Given the description of an element on the screen output the (x, y) to click on. 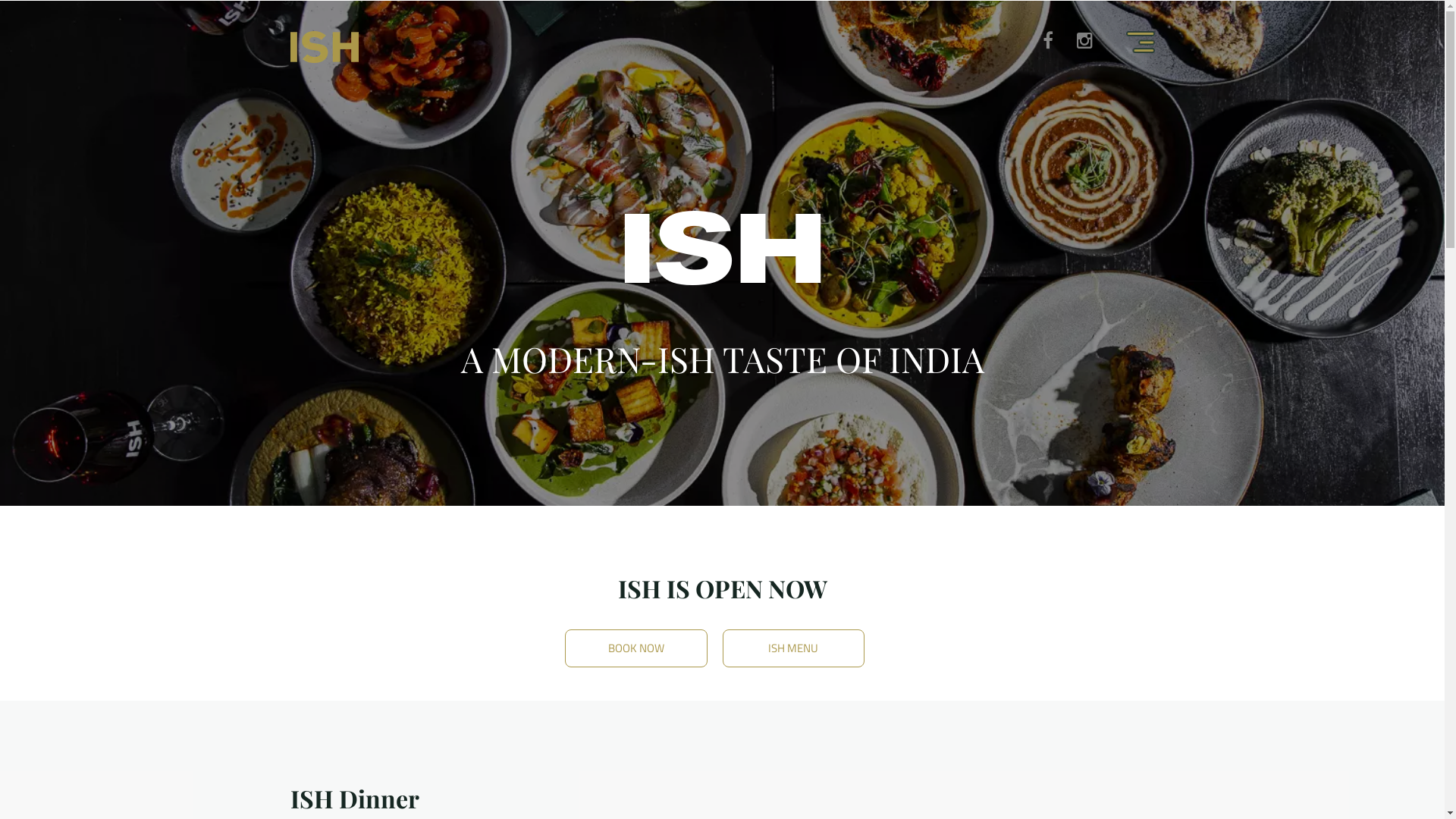
ISH MENU Element type: text (792, 648)
BOOK NOW Element type: text (635, 648)
